Given the description of an element on the screen output the (x, y) to click on. 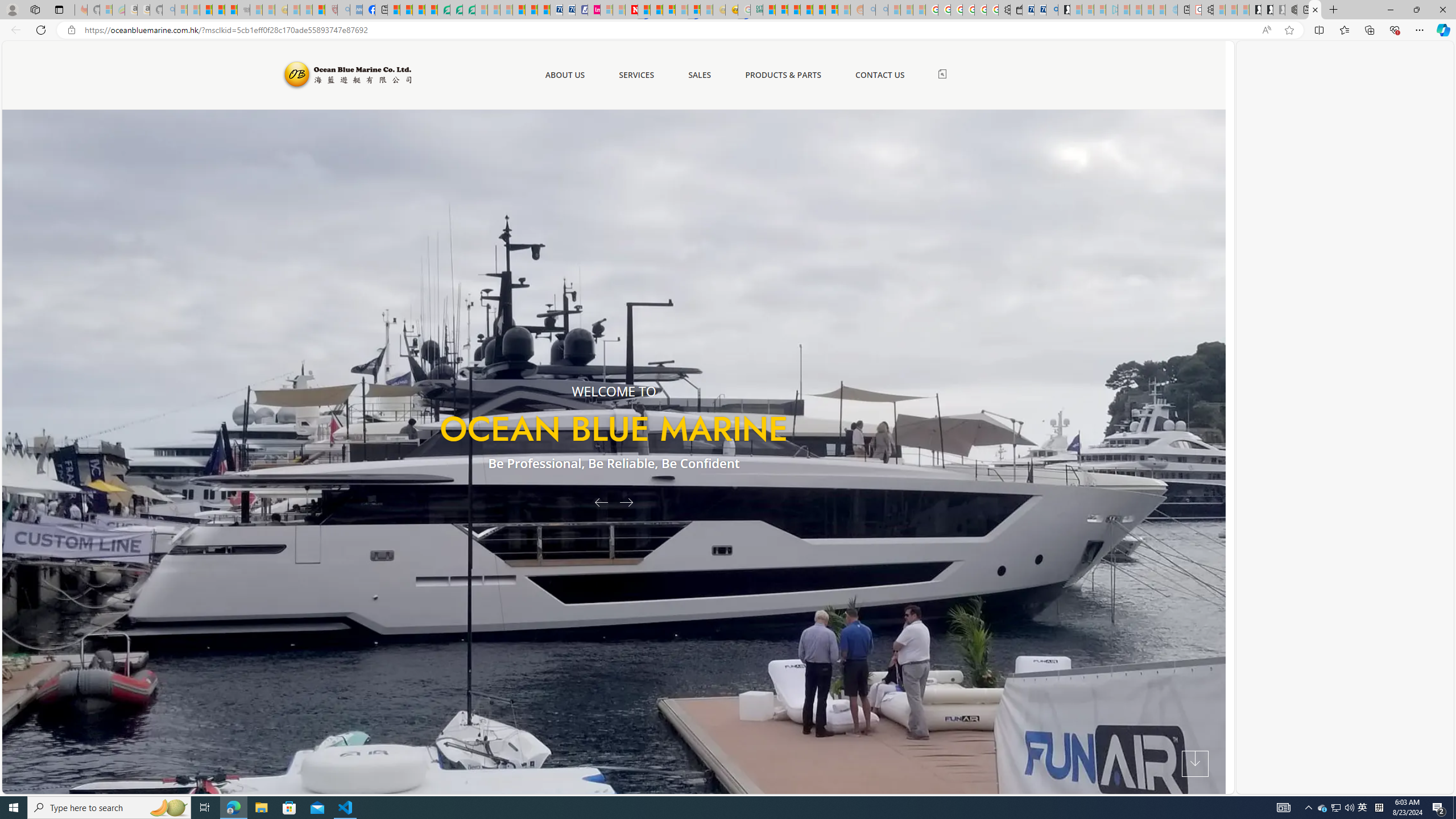
ABOUT US (564, 74)
CONTACT US (879, 75)
SALES (699, 74)
